Given the description of an element on the screen output the (x, y) to click on. 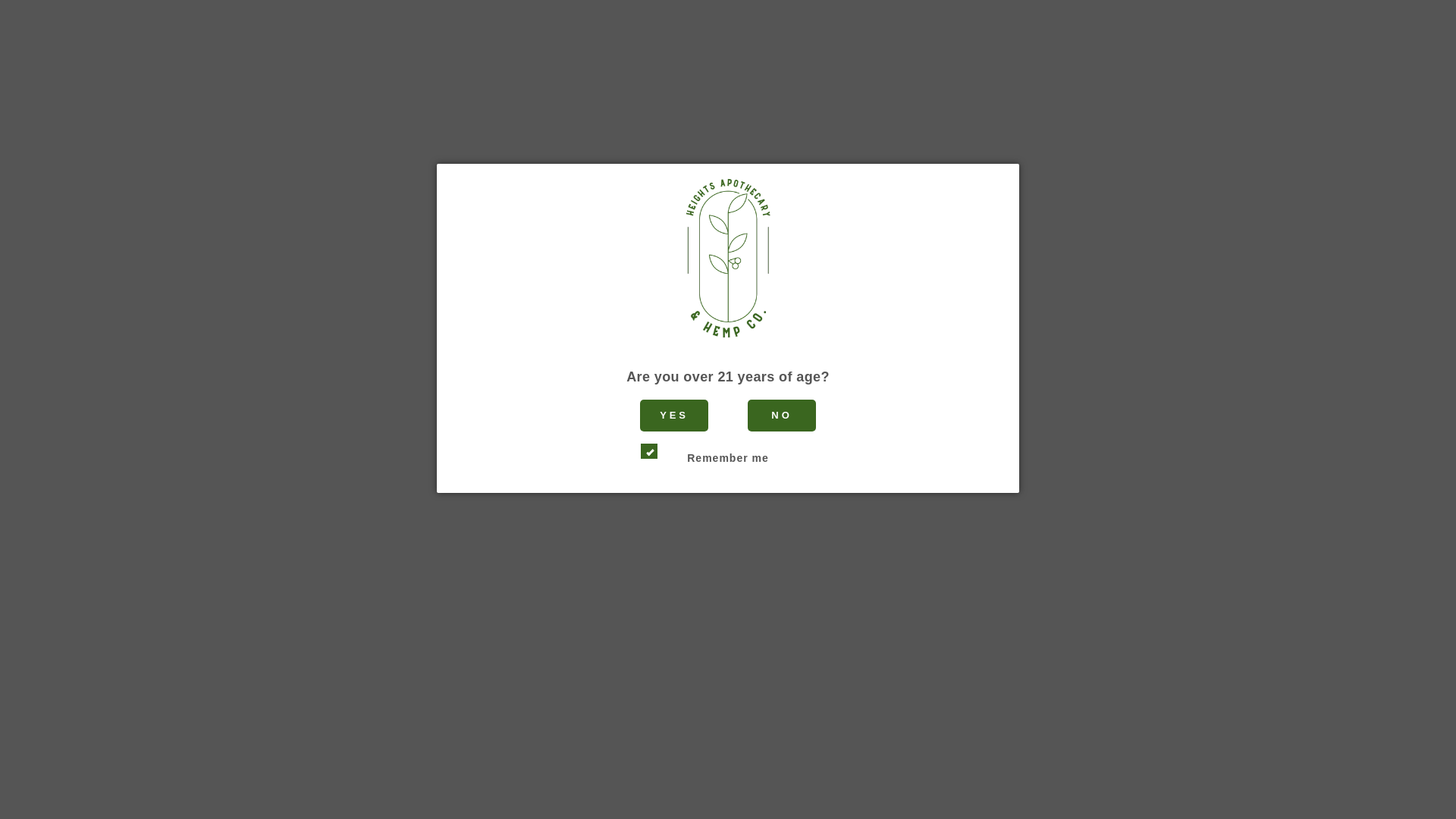
1 (807, 490)
Lazarus Naturals (837, 312)
SHOP (346, 159)
